Given the description of an element on the screen output the (x, y) to click on. 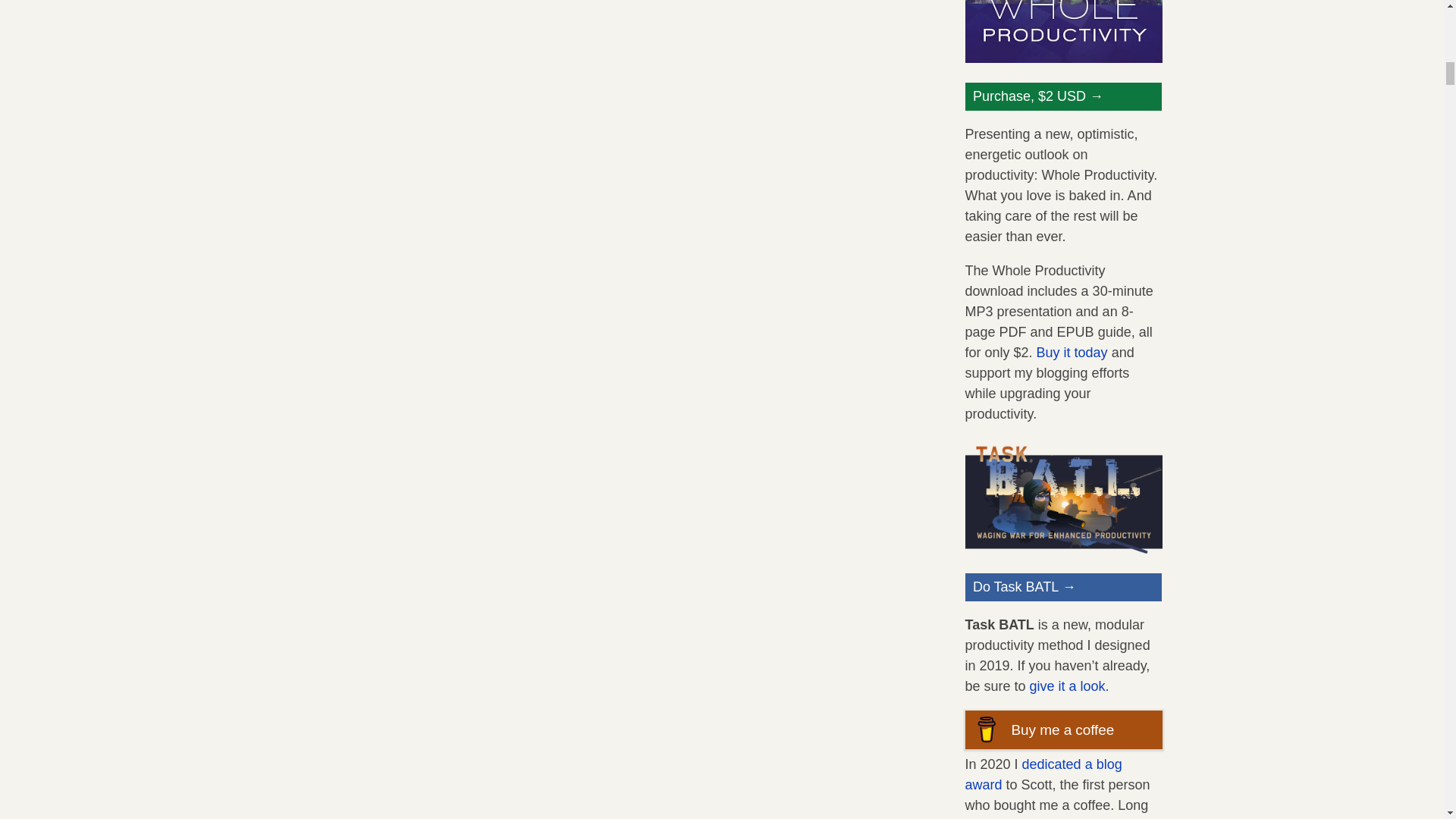
Buy me a coffee (1062, 729)
Learn about Task BATL (1062, 548)
Buy it today (1072, 352)
give it a look. (1069, 685)
Whole Productivity by Marc Carson (1062, 58)
dedicated a blog award (1042, 774)
